Given the description of an element on the screen output the (x, y) to click on. 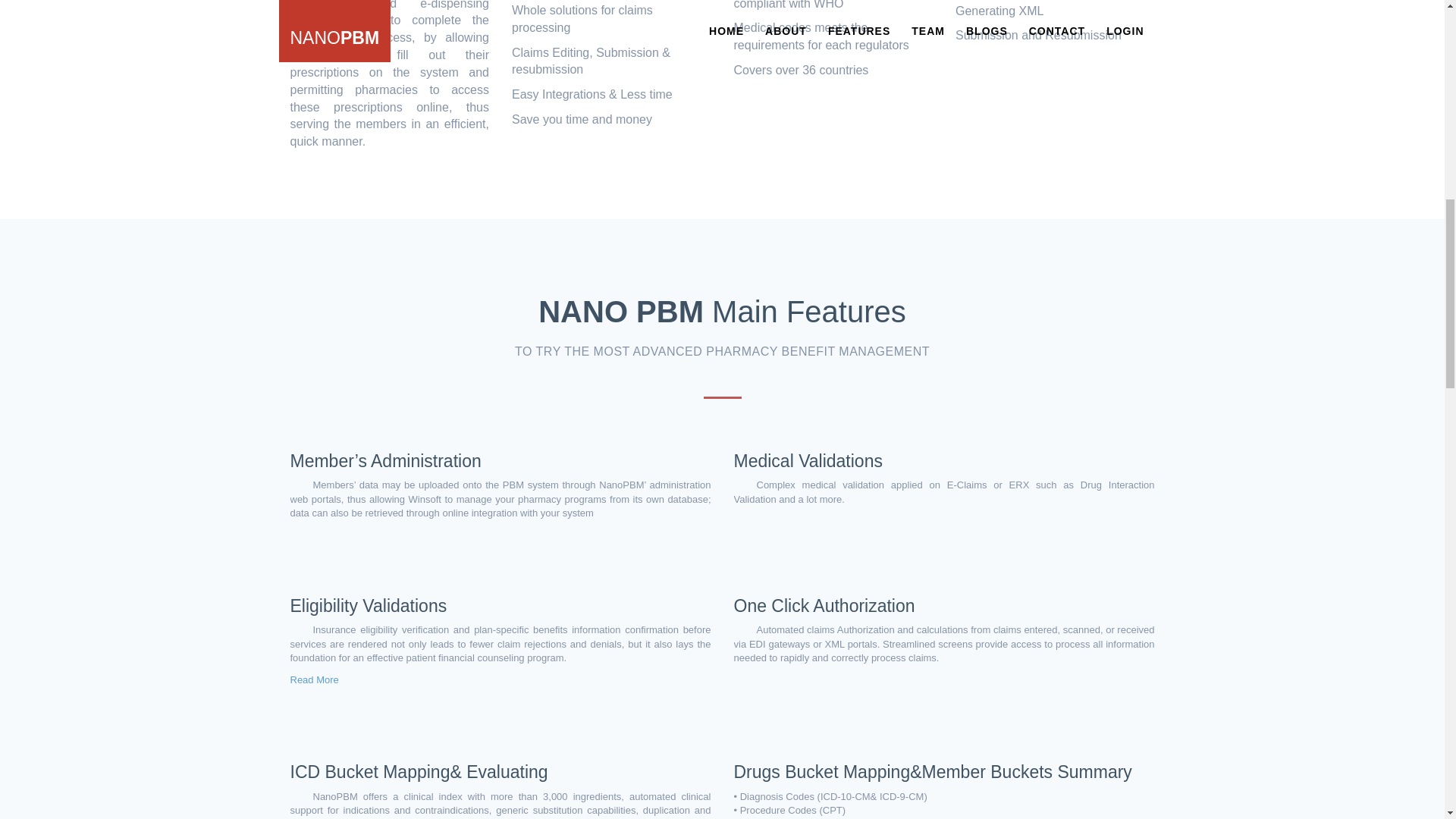
Read More (313, 679)
Medical Validations (807, 460)
Eligibility Validations (367, 605)
One Click Authorization (824, 605)
